Given the description of an element on the screen output the (x, y) to click on. 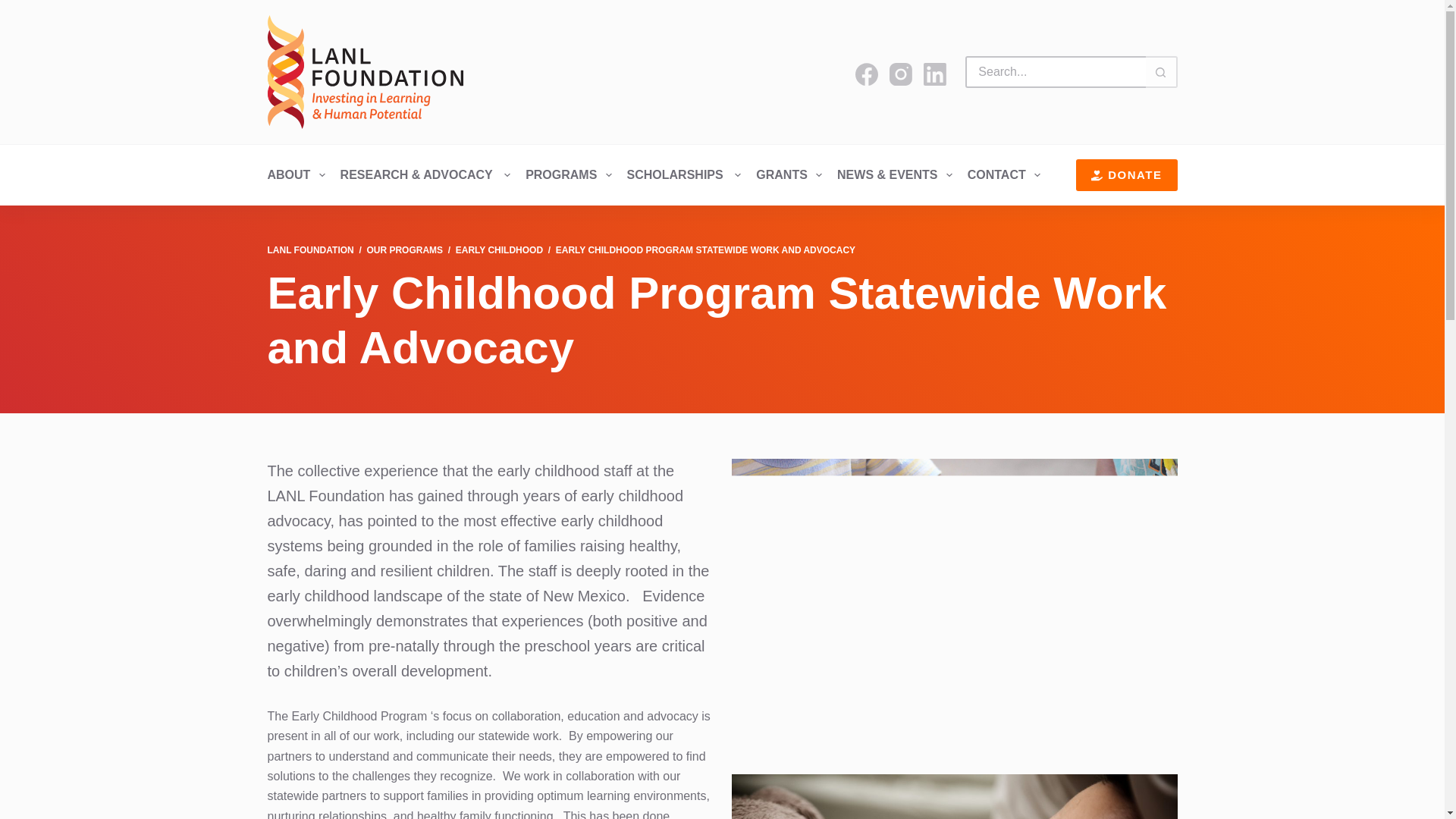
Search for... (1054, 71)
Skip to content (15, 7)
Go to Our Programs. (404, 249)
Go to Early Childhood. (499, 249)
Go to LANL Foundation. (309, 249)
Early Childhood Program Statewide Work and Advocacy (721, 320)
